Given the description of an element on the screen output the (x, y) to click on. 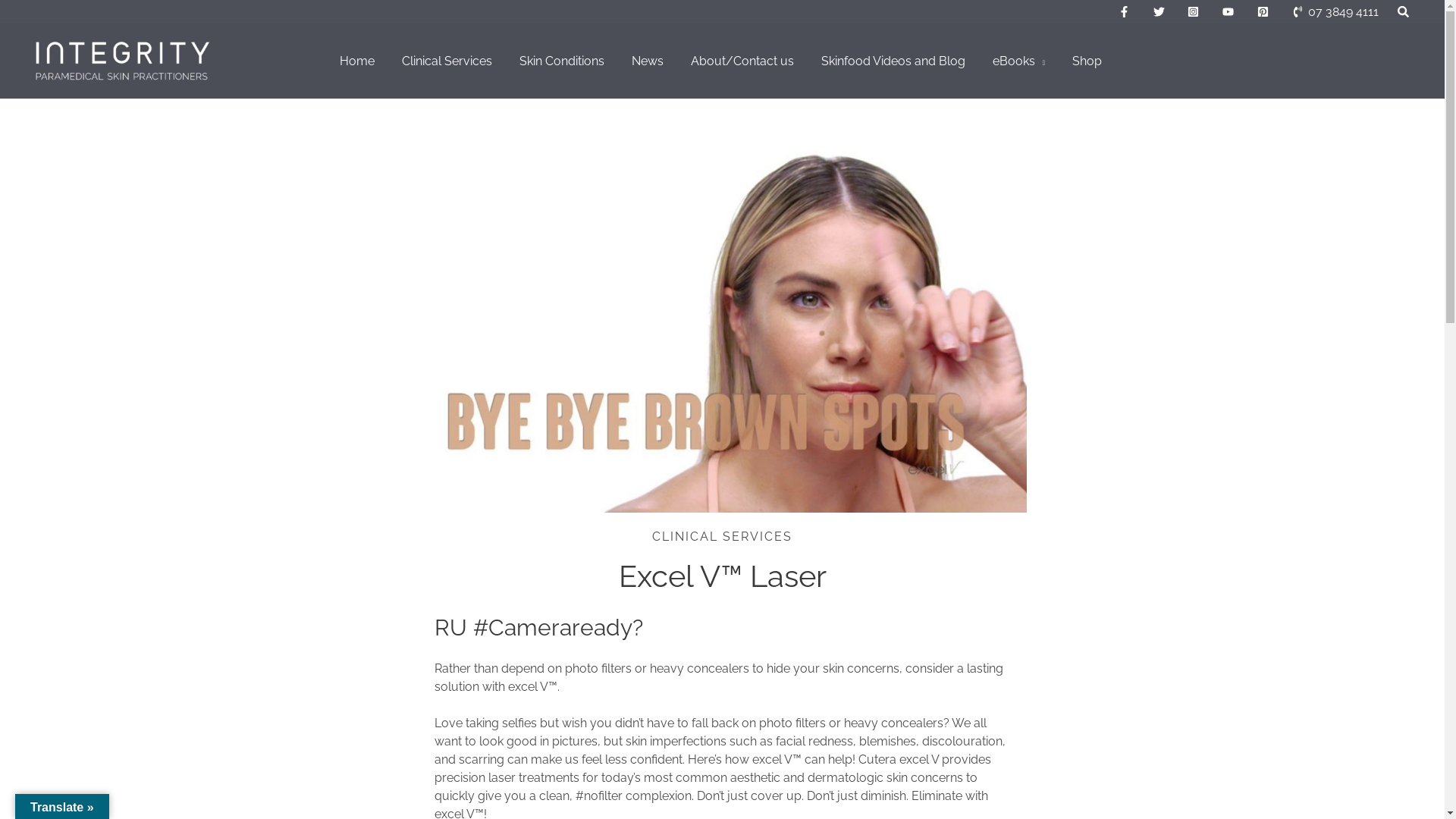
News Element type: text (648, 61)
eBooks Element type: text (1020, 61)
Skin Conditions Element type: text (563, 61)
Clinical Services Element type: text (448, 61)
Skinfood Videos and Blog Element type: text (894, 61)
Shop Element type: text (1088, 61)
Home Element type: text (358, 61)
About/Contact us Element type: text (743, 61)
07 3849 4111 Element type: text (1334, 12)
